Given the description of an element on the screen output the (x, y) to click on. 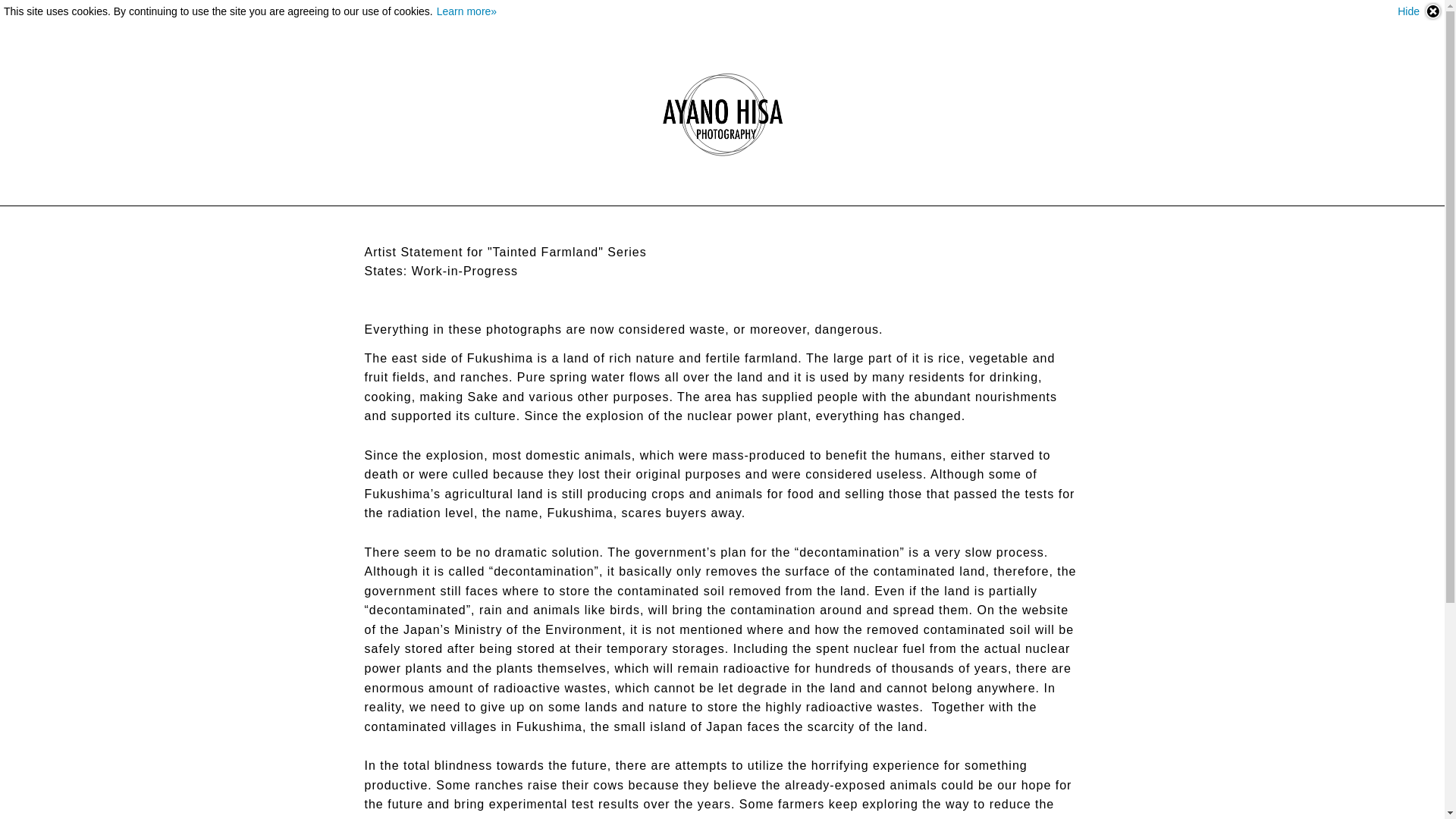
Hide (1419, 11)
NYC Event Photographer, Ayano Hisa (721, 114)
